Given the description of an element on the screen output the (x, y) to click on. 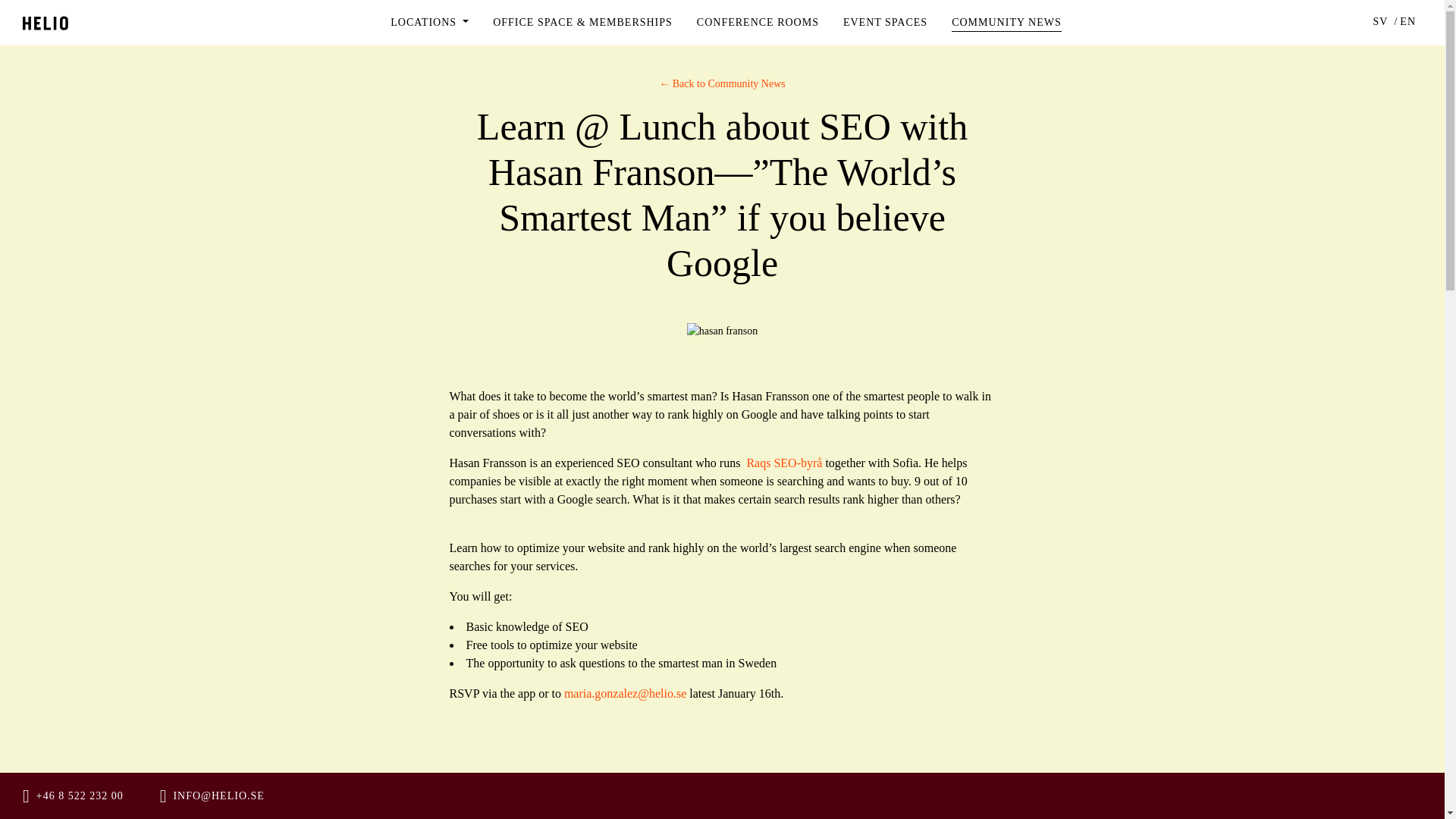
COMMUNITY NEWS (1006, 22)
CONFERENCE ROOMS (757, 22)
LOCATIONS (429, 22)
Helio (45, 22)
EVENT SPACES (885, 22)
